Given the description of an element on the screen output the (x, y) to click on. 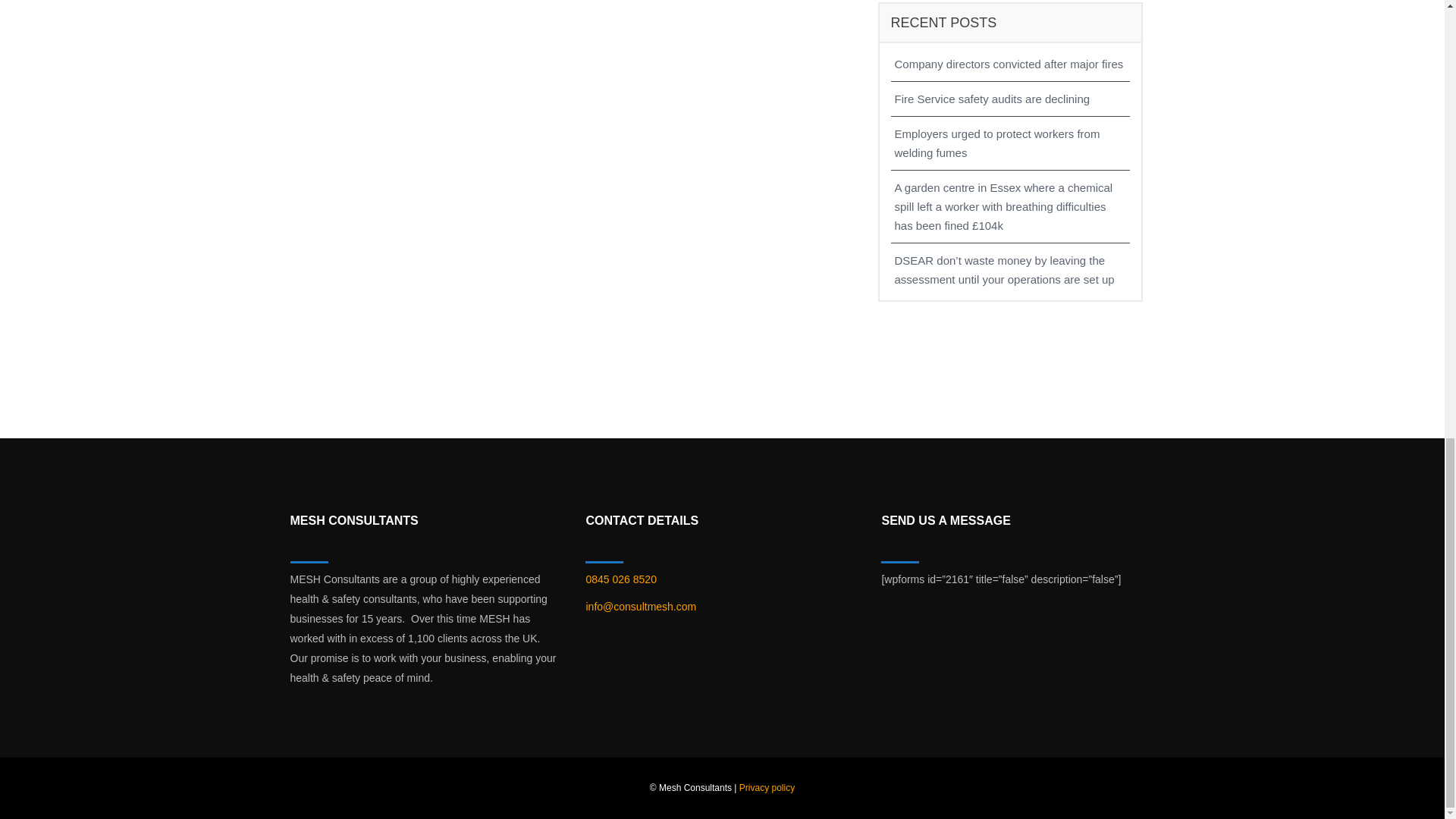
Company directors convicted after major fires (1010, 63)
Employers urged to protect workers from welding fumes (1010, 143)
Fire Service safety audits are declining (1010, 98)
0845 026 8520 (620, 579)
Privacy policy (766, 787)
